Given the description of an element on the screen output the (x, y) to click on. 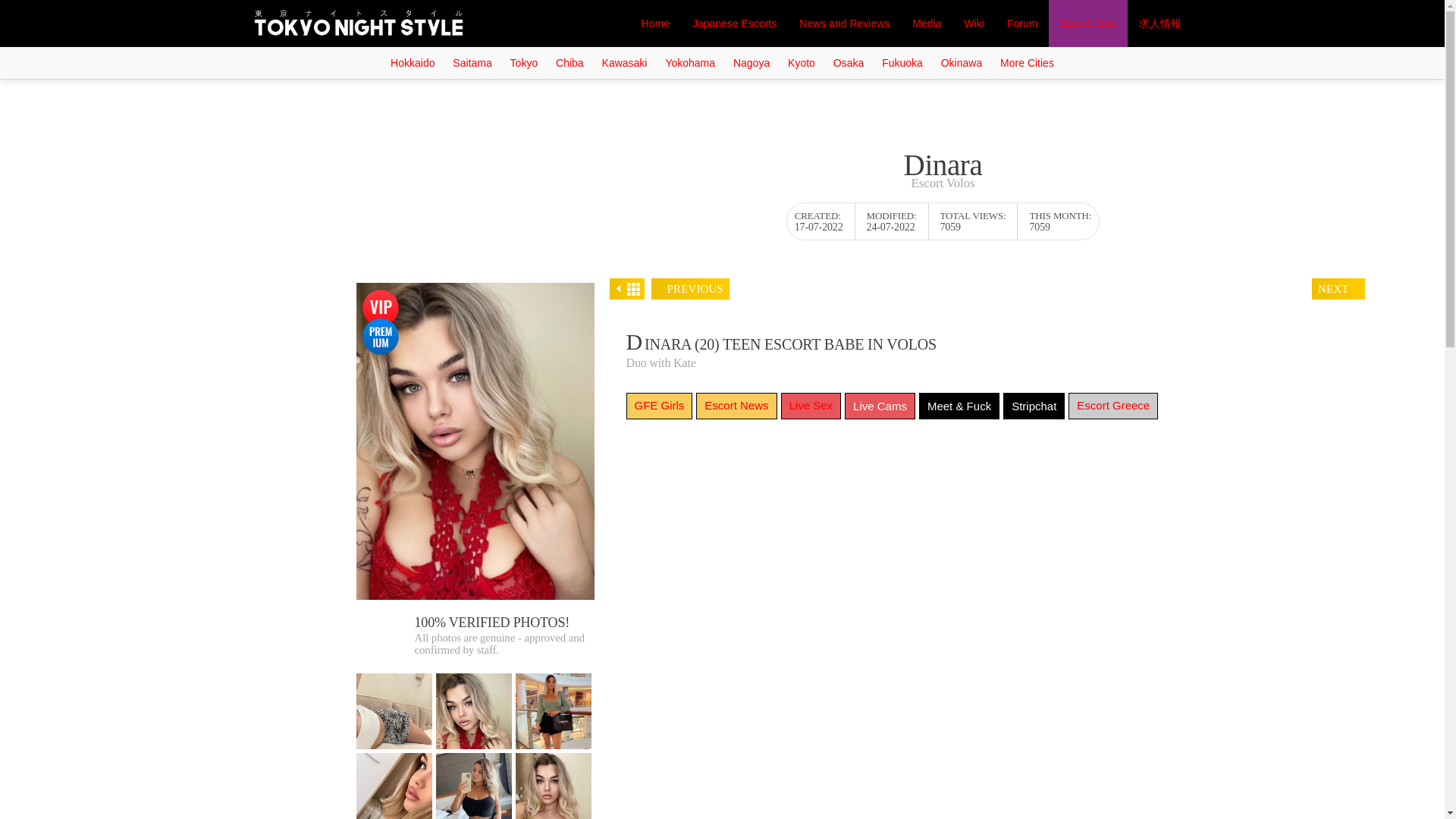
Nagoya (751, 62)
Escort Jobs (1087, 23)
Home (655, 23)
Japanese Escorts (734, 23)
Wiki (973, 23)
Kawasaki (624, 62)
Media (926, 23)
Hokkaido (412, 62)
Fukuoka (902, 62)
Kyoto (801, 62)
